Given the description of an element on the screen output the (x, y) to click on. 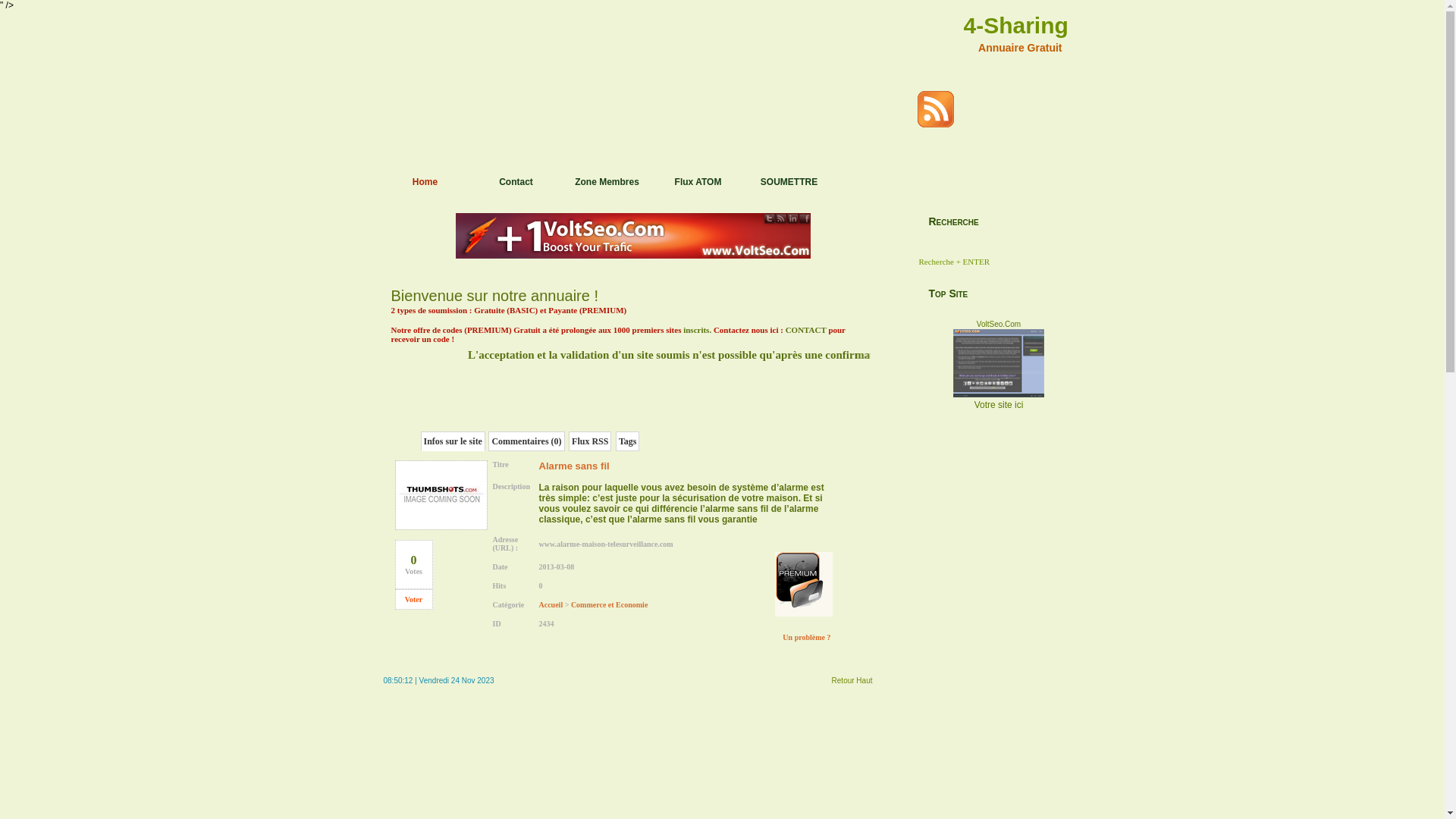
SOUMETTRE Element type: text (788, 186)
Votre site ici Element type: text (998, 404)
Voter Element type: text (413, 599)
Commerce et Economie Element type: text (609, 604)
Contact Element type: text (515, 186)
inscrits. Element type: text (697, 329)
Retour Haut Element type: text (851, 680)
Zone Membres Element type: text (606, 186)
Bienvenue sur notre annuaire ! Element type: text (495, 295)
Infos sur le site Element type: text (452, 441)
VoltSeo.Com Element type: hover (998, 394)
Alarme sans fil Element type: text (574, 465)
Commentaires (0) Element type: text (526, 441)
CONTACT Element type: text (805, 329)
VoltSeo.Com Element type: text (998, 324)
Tags Element type: text (627, 441)
Accueil Element type: text (551, 604)
Flux RSS Element type: text (589, 441)
0 Element type: text (414, 559)
Flux ATOM Element type: text (697, 186)
Home Element type: text (424, 186)
Alarme sans fil Element type: hover (440, 527)
4-Sharing Element type: text (1015, 24)
